Given the description of an element on the screen output the (x, y) to click on. 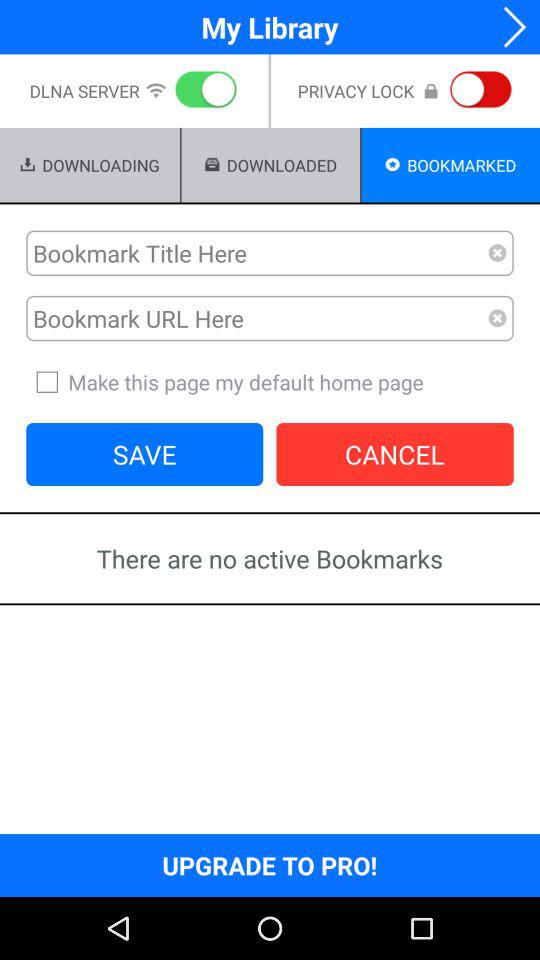
url of the site youd like to bookmark (257, 318)
